Given the description of an element on the screen output the (x, y) to click on. 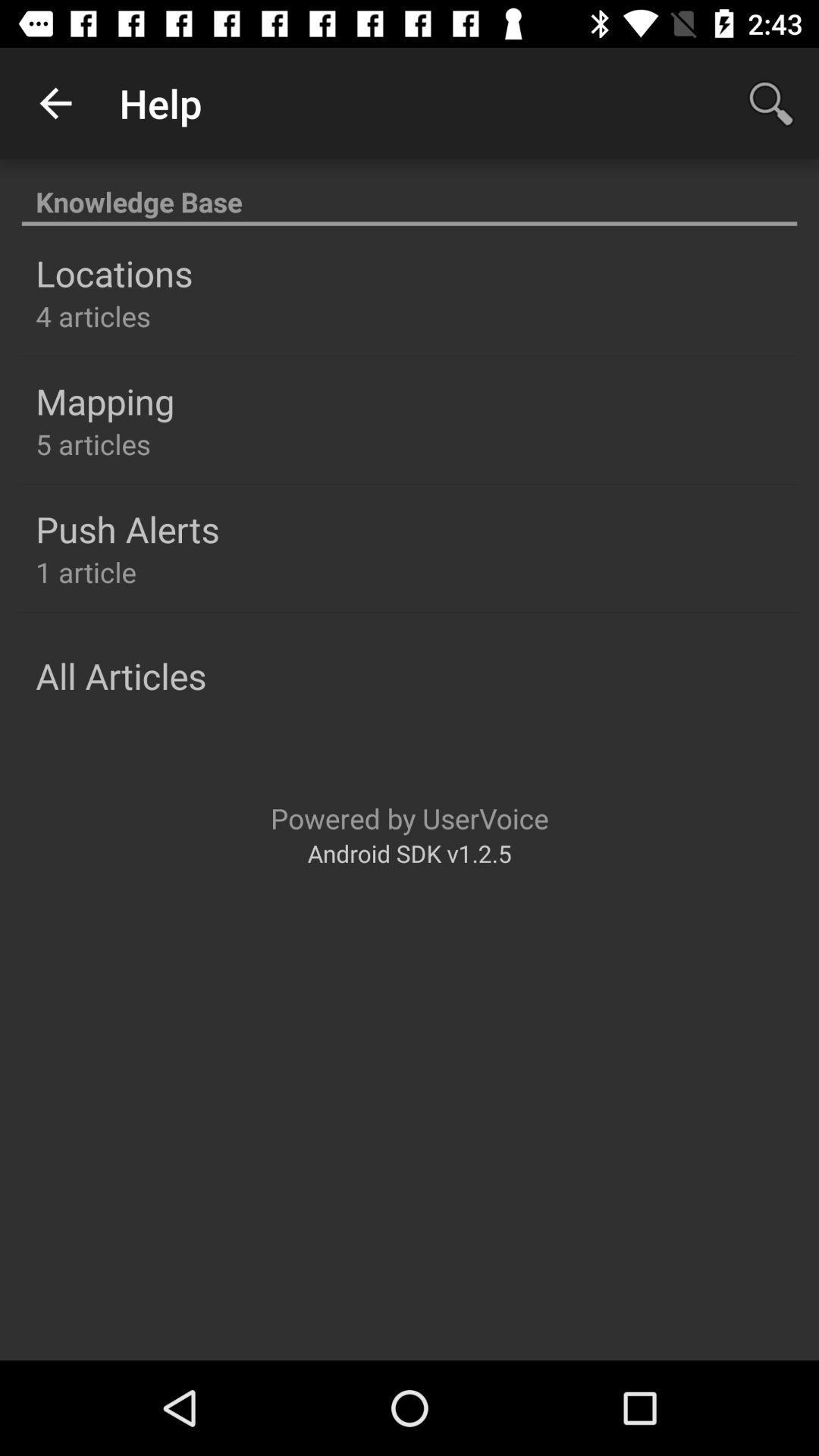
click icon above the android sdk v1 icon (409, 818)
